Given the description of an element on the screen output the (x, y) to click on. 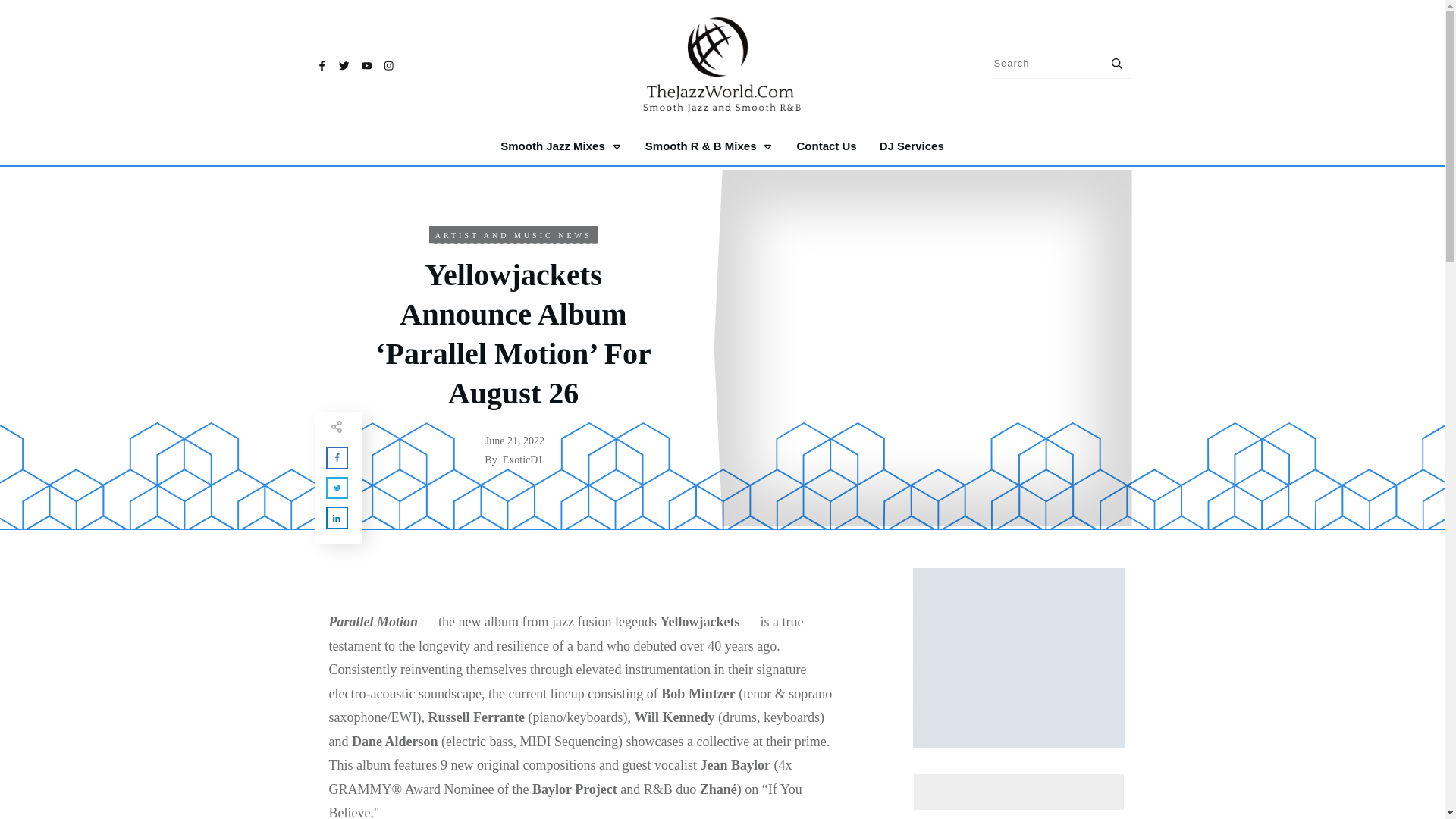
Contact Us (826, 146)
DJ Services (911, 146)
Smooth Jazz Mixes (561, 146)
